Given the description of an element on the screen output the (x, y) to click on. 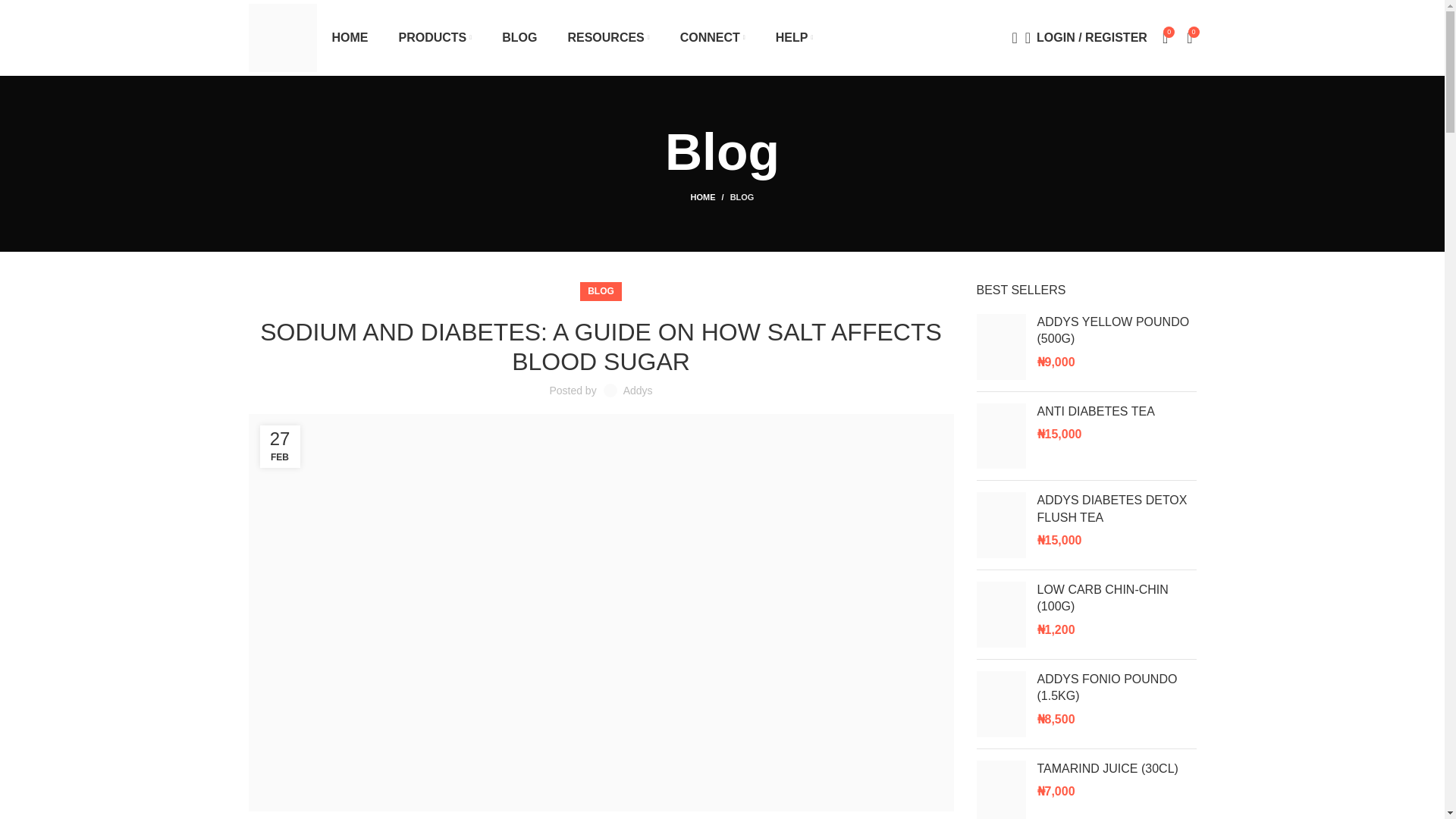
My account (1085, 37)
PRODUCTS (434, 37)
Anti Diabetes Tea (1116, 411)
ADDYS DIABETES DETOX FLUSH TEA (1116, 509)
HOME (349, 37)
